Given the description of an element on the screen output the (x, y) to click on. 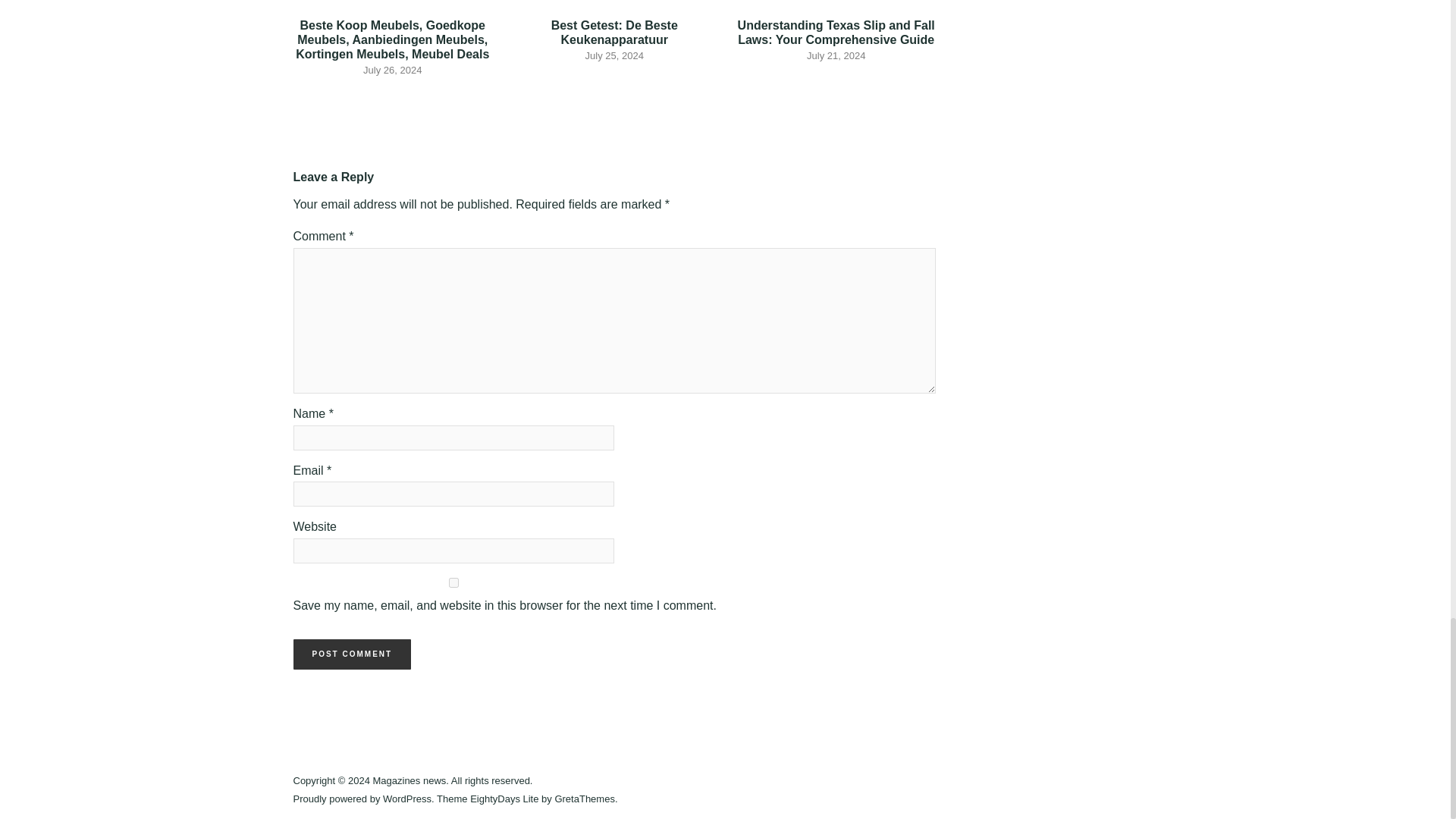
yes (453, 583)
Best Getest: De Beste Keukenapparatuur (614, 31)
Best Getest: De Beste Keukenapparatuur (614, 31)
Post Comment (351, 654)
Post Comment (351, 654)
